Given the description of an element on the screen output the (x, y) to click on. 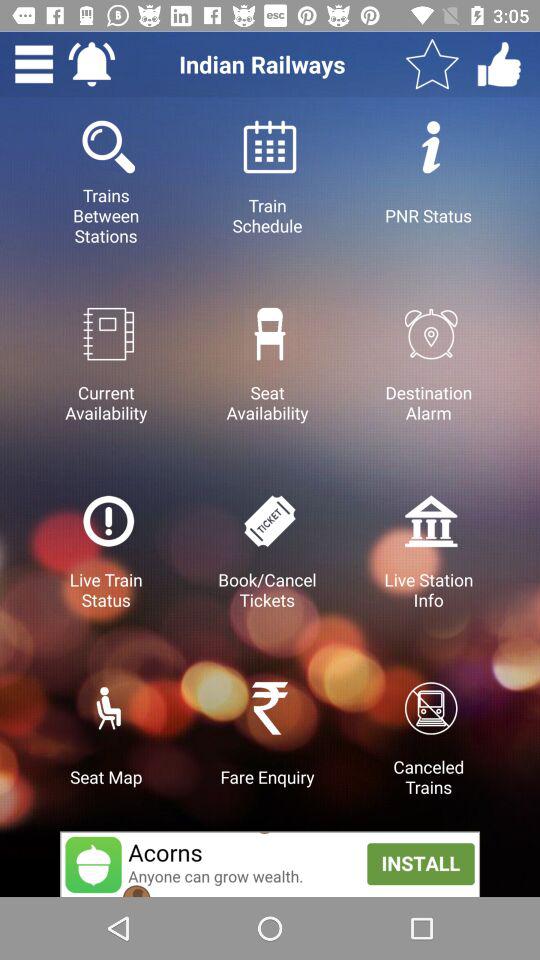
tap item above the trains between stations icon (33, 64)
